Given the description of an element on the screen output the (x, y) to click on. 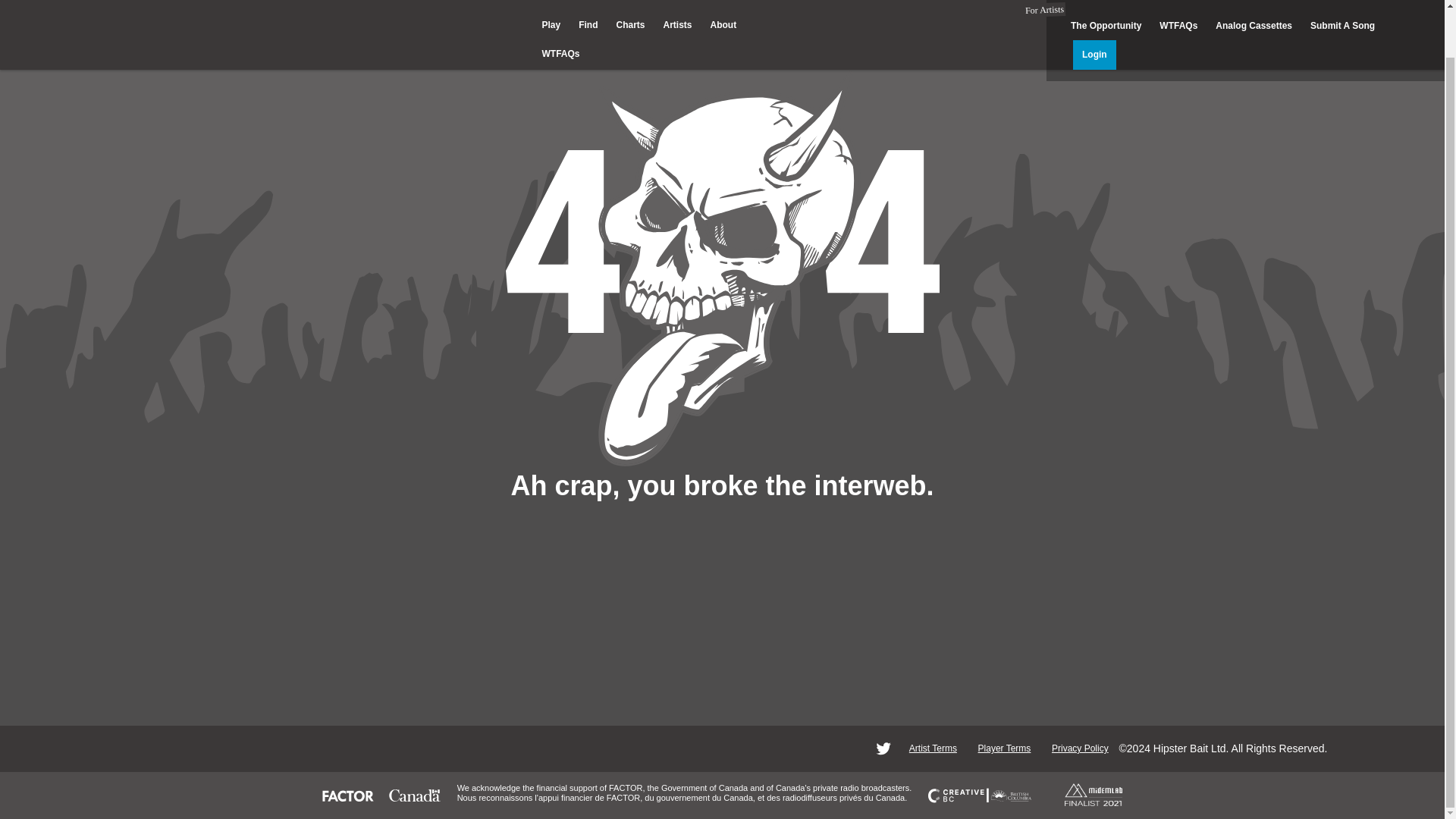
Privacy Policy (1079, 748)
Artist Terms (932, 748)
Login (1094, 9)
WTFAQs (560, 8)
Instagram (830, 748)
Facebook (856, 748)
Twitter (883, 748)
Player Terms (1004, 748)
